Given the description of an element on the screen output the (x, y) to click on. 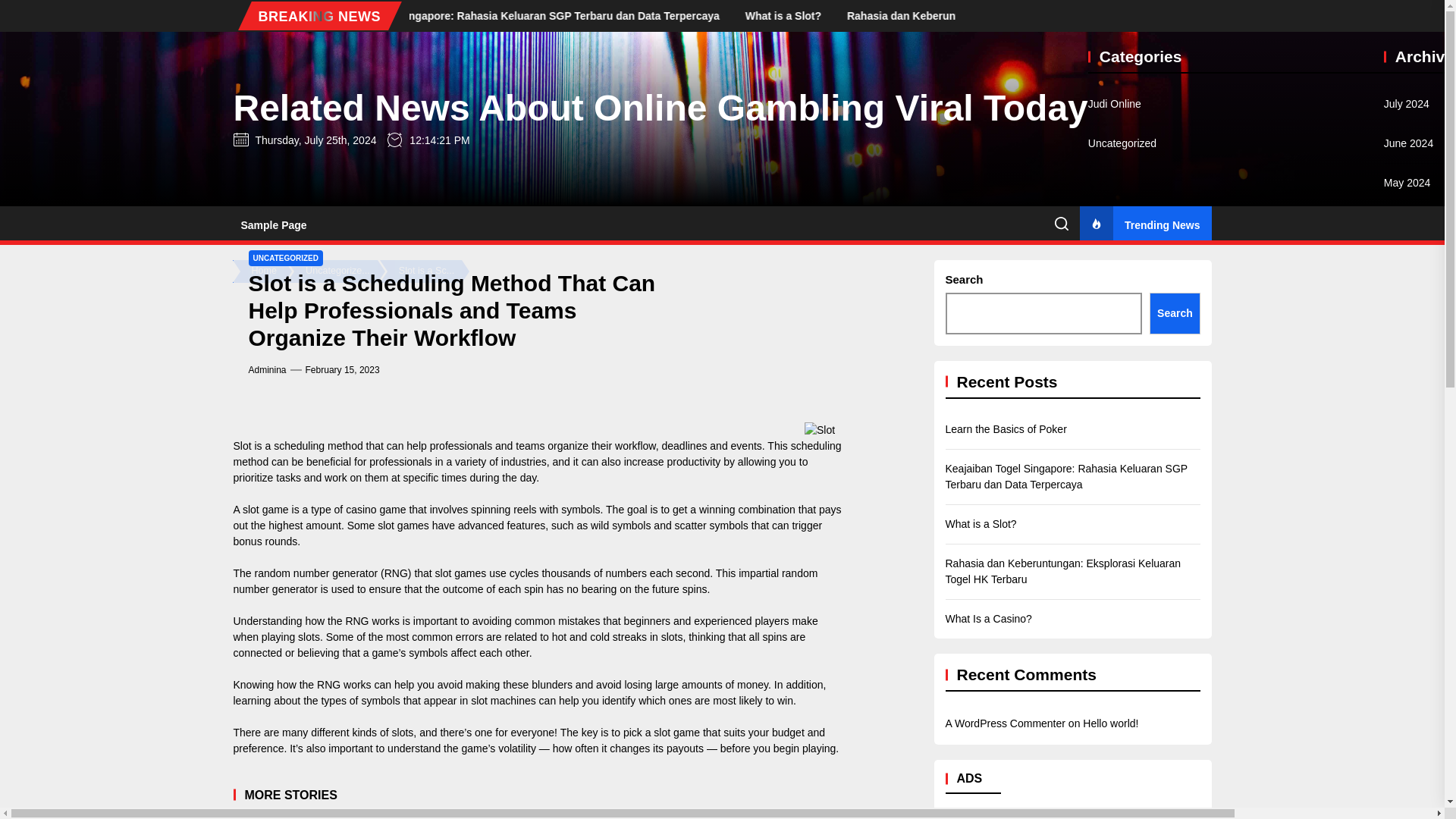
January 2023 (1416, 812)
June 2024 (1408, 143)
March 2023 (1411, 734)
Learn the Basics of Poker (371, 15)
January 2024 (1416, 340)
June 2023 (1408, 616)
July 2024 (1406, 104)
August 2023 (1414, 537)
What is a Slot? (925, 15)
February 2023 (1418, 774)
Related News About Online Gambling Viral Today (659, 108)
May 2023 (1406, 656)
February 2024 (1418, 301)
September 2023 (1420, 498)
April 2023 (1407, 695)
